Given the description of an element on the screen output the (x, y) to click on. 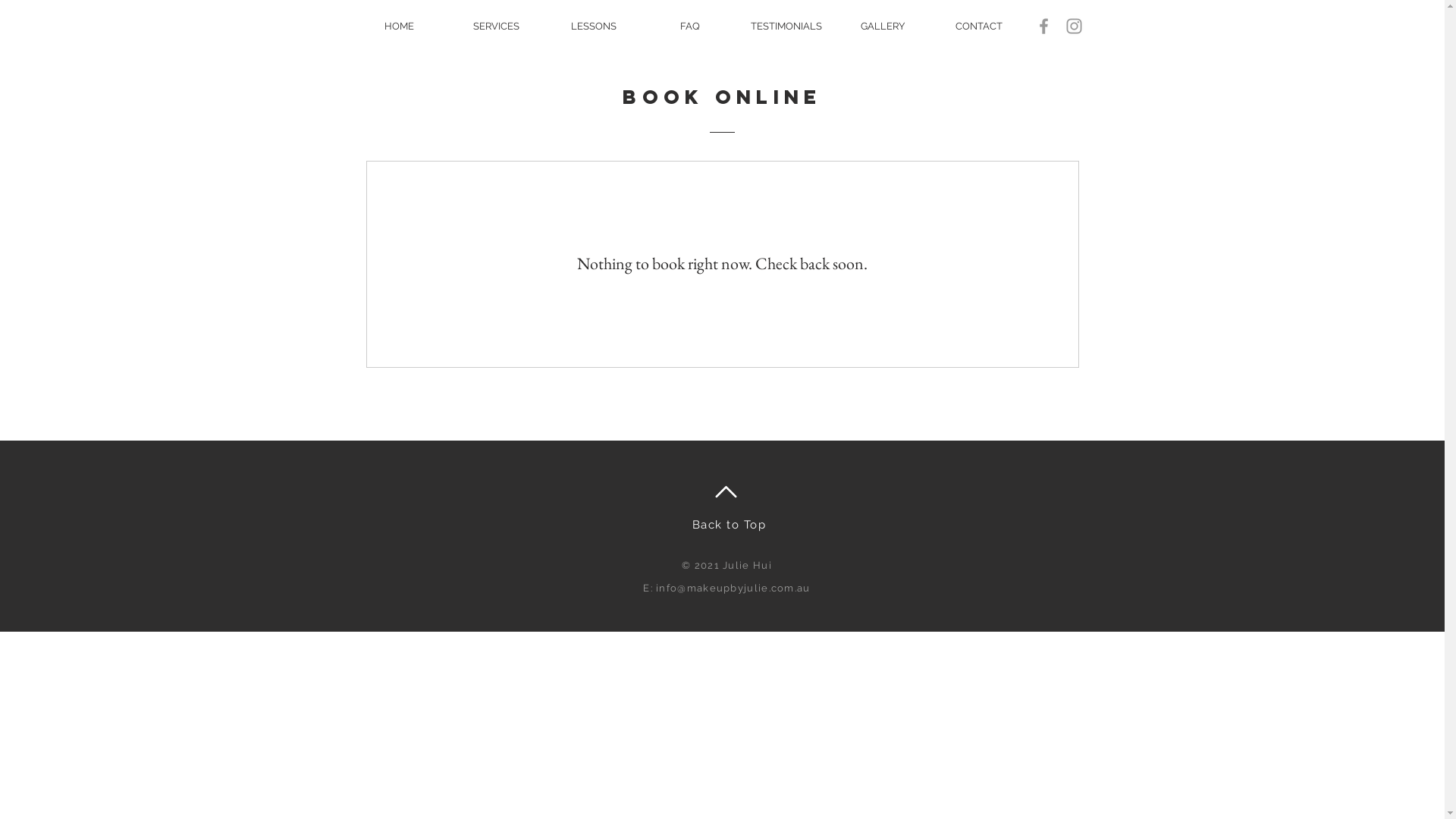
Back to Top Element type: text (729, 524)
GALLERY Element type: text (882, 25)
TESTIMONIALS Element type: text (786, 25)
SERVICES Element type: text (495, 25)
info@makeupbyjulie.com.au Element type: text (732, 587)
FAQ Element type: text (689, 25)
HOME Element type: text (398, 25)
CONTACT Element type: text (979, 25)
LESSONS Element type: text (592, 25)
